Given the description of an element on the screen output the (x, y) to click on. 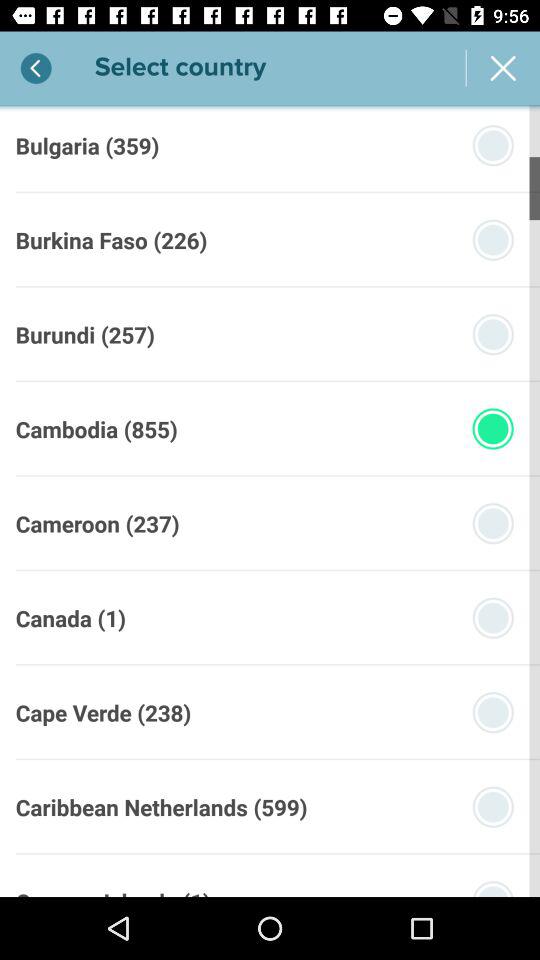
flip until the cameroon (237) item (97, 523)
